Given the description of an element on the screen output the (x, y) to click on. 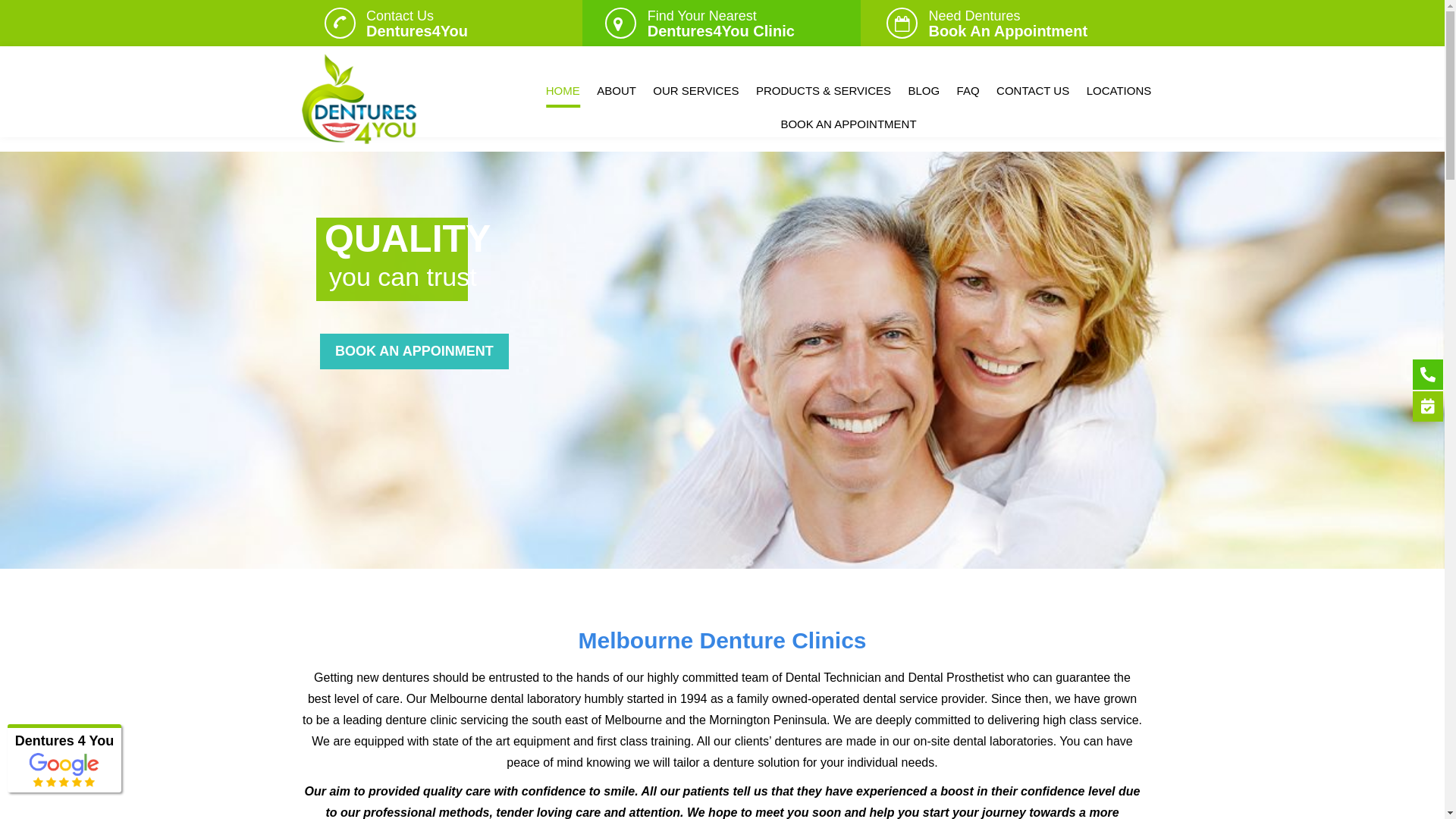
Find Your Nearest
Dentures4You Clinic Element type: text (720, 22)
OUR SERVICES Element type: text (695, 90)
HOME Element type: text (563, 90)
FAQ Element type: text (968, 90)
BLOG Element type: text (923, 90)
BOOK AN APPOINTMENT Element type: text (848, 124)
Dentures 4 You Element type: text (64, 740)
Contact Us
Dentures4You Element type: text (416, 22)
CONTACT US Element type: text (1032, 90)
ABOUT Element type: text (616, 90)
Need Dentures
Book An Appointment Element type: text (1007, 22)
LOCATIONS Element type: text (1118, 90)
PRODUCTS & SERVICES Element type: text (823, 90)
